Given the description of an element on the screen output the (x, y) to click on. 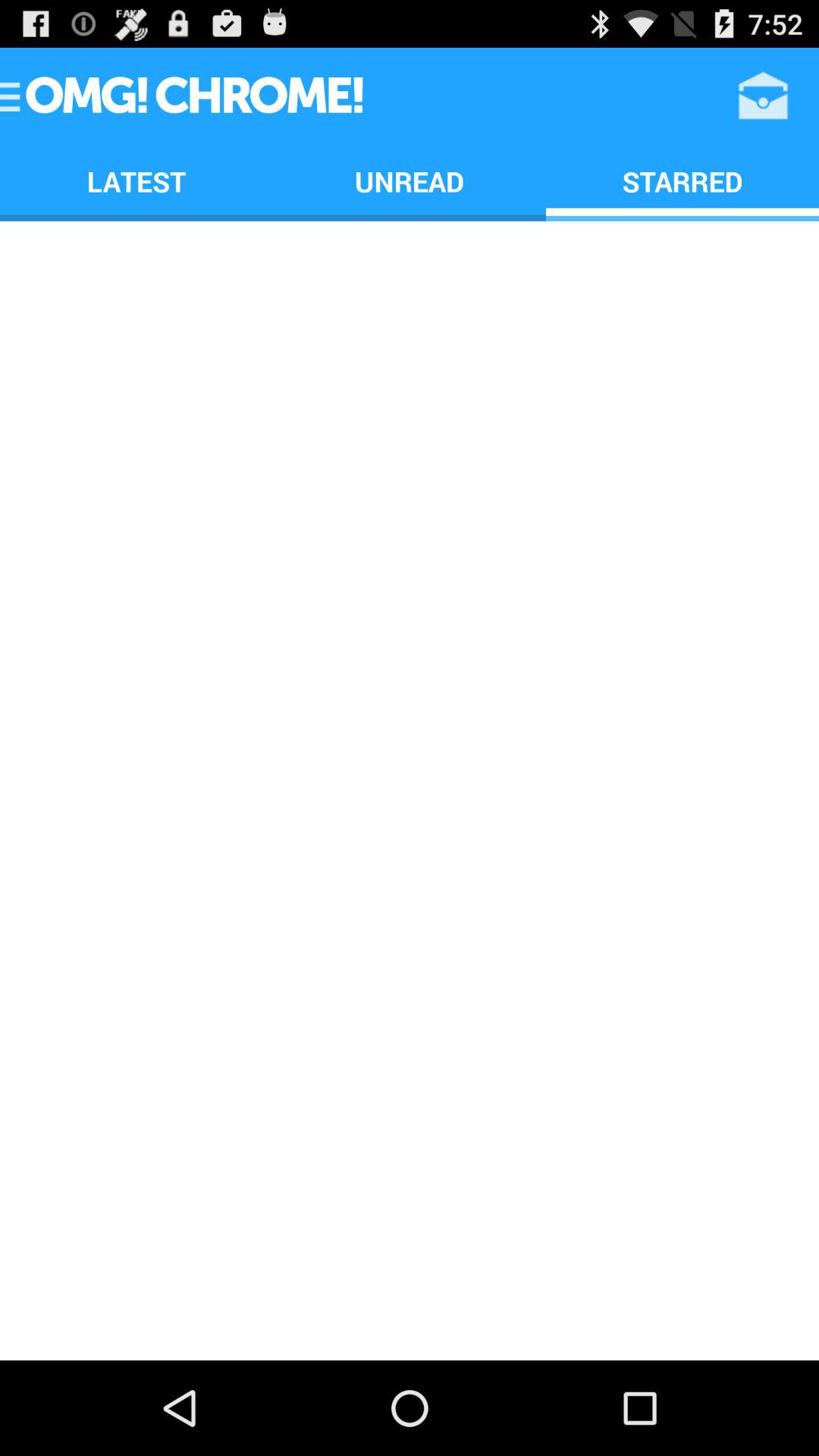
select the app next to the latest app (409, 181)
